Given the description of an element on the screen output the (x, y) to click on. 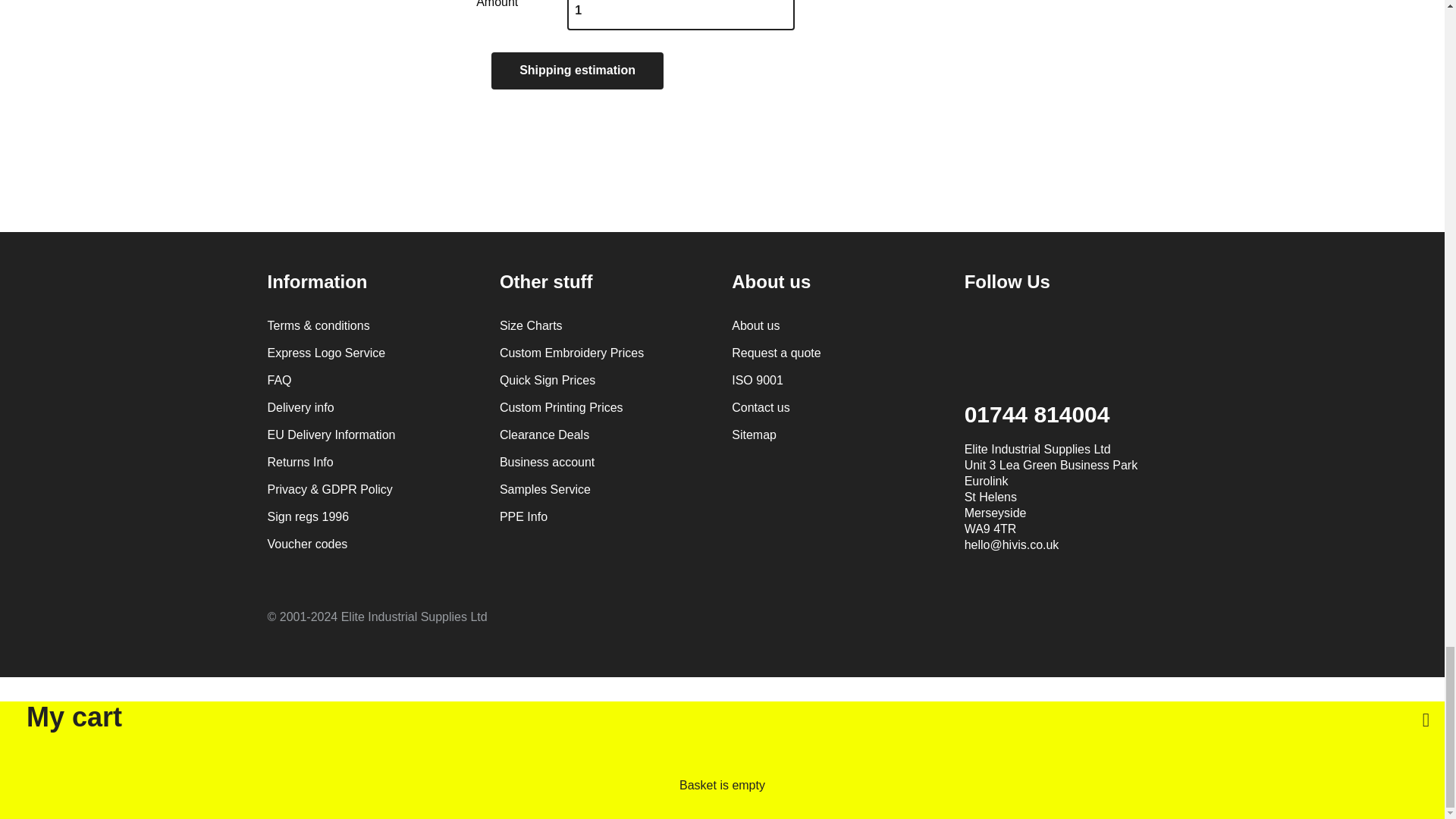
1 (680, 15)
